Given the description of an element on the screen output the (x, y) to click on. 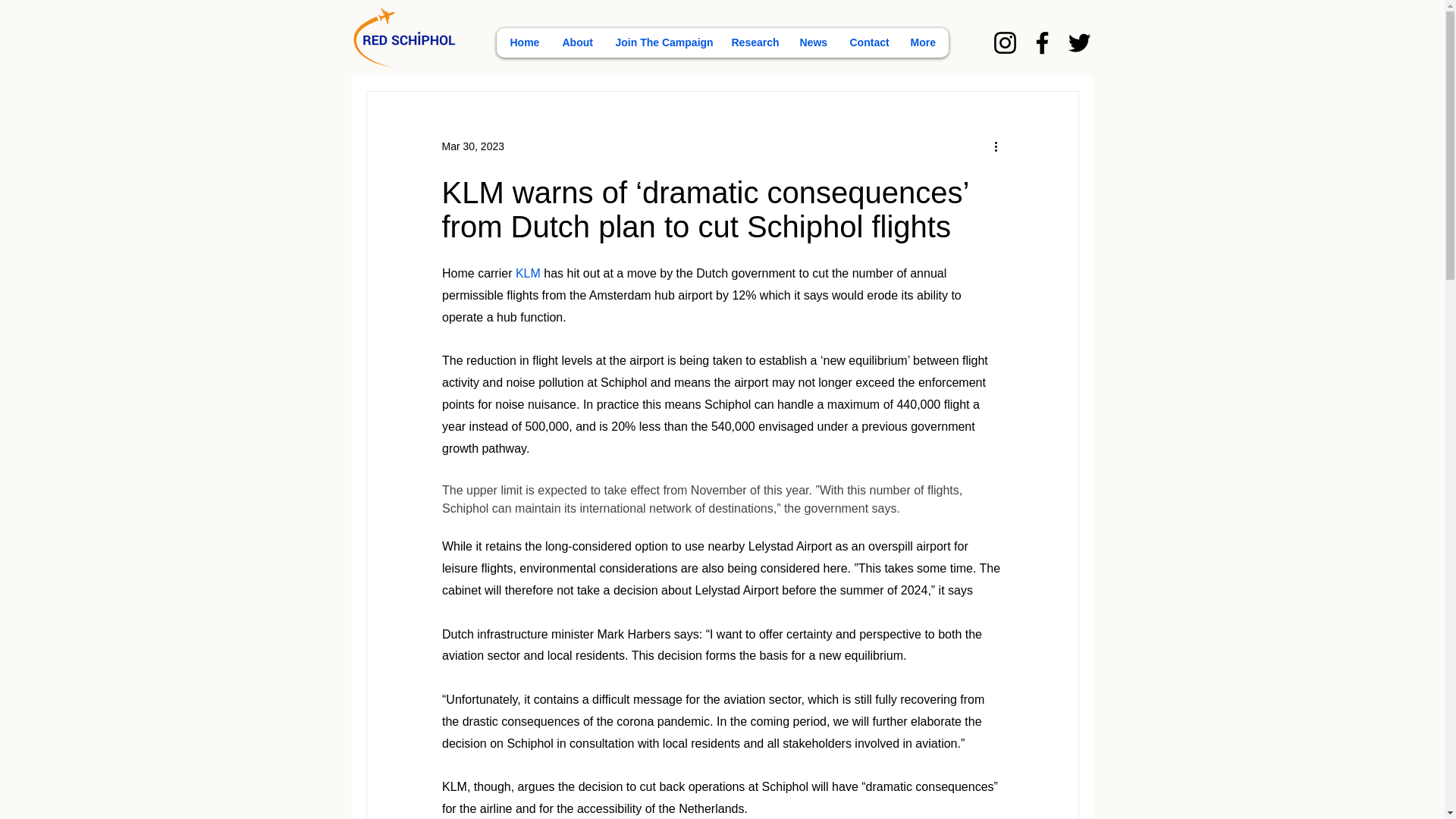
Mar 30, 2023 (472, 145)
News (812, 42)
Contact (867, 42)
About (577, 42)
Home (523, 42)
Research (753, 42)
KLM (527, 273)
Join The Campaign (661, 42)
